Given the description of an element on the screen output the (x, y) to click on. 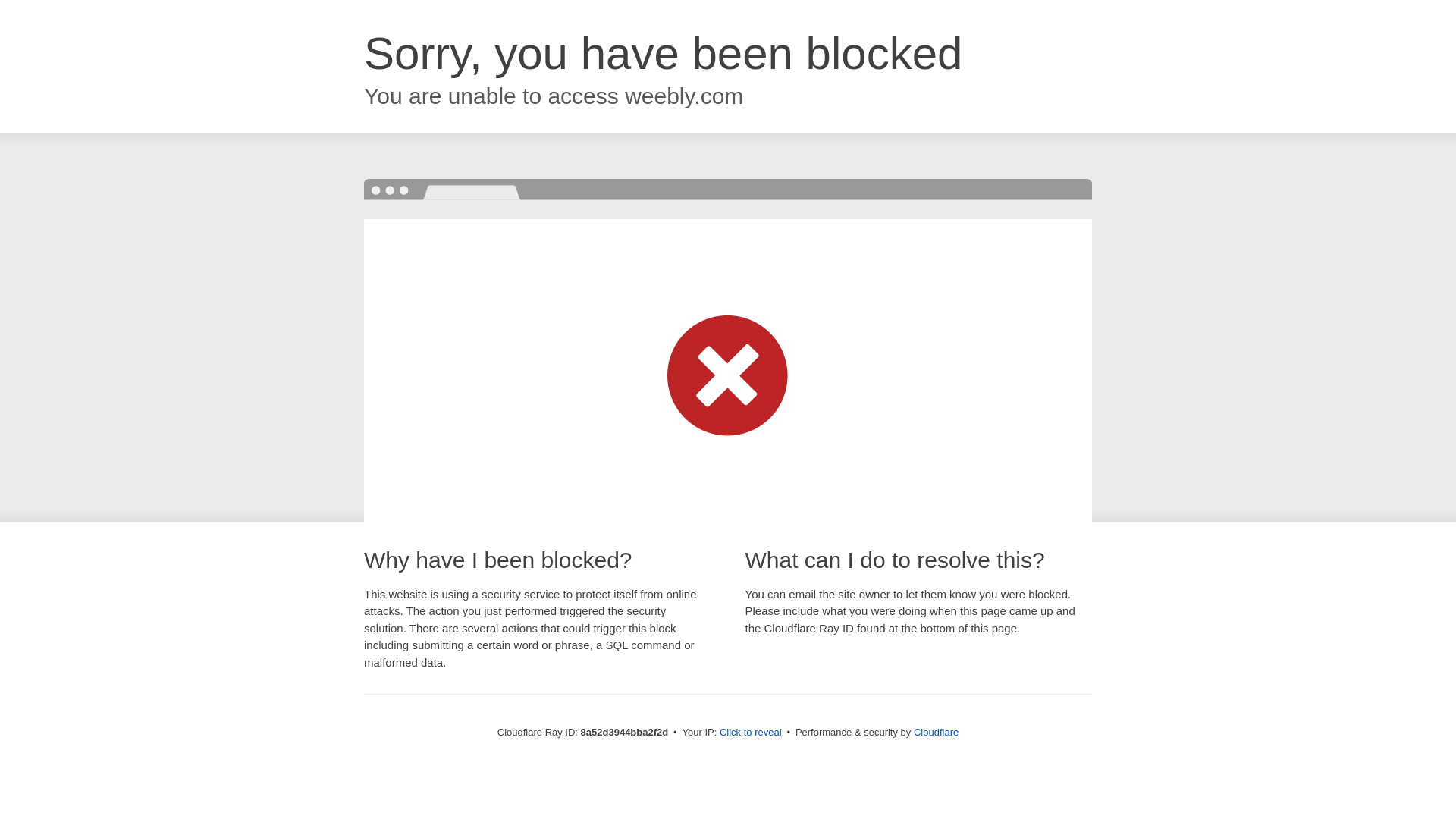
Cloudflare (936, 731)
Click to reveal (750, 732)
